Given the description of an element on the screen output the (x, y) to click on. 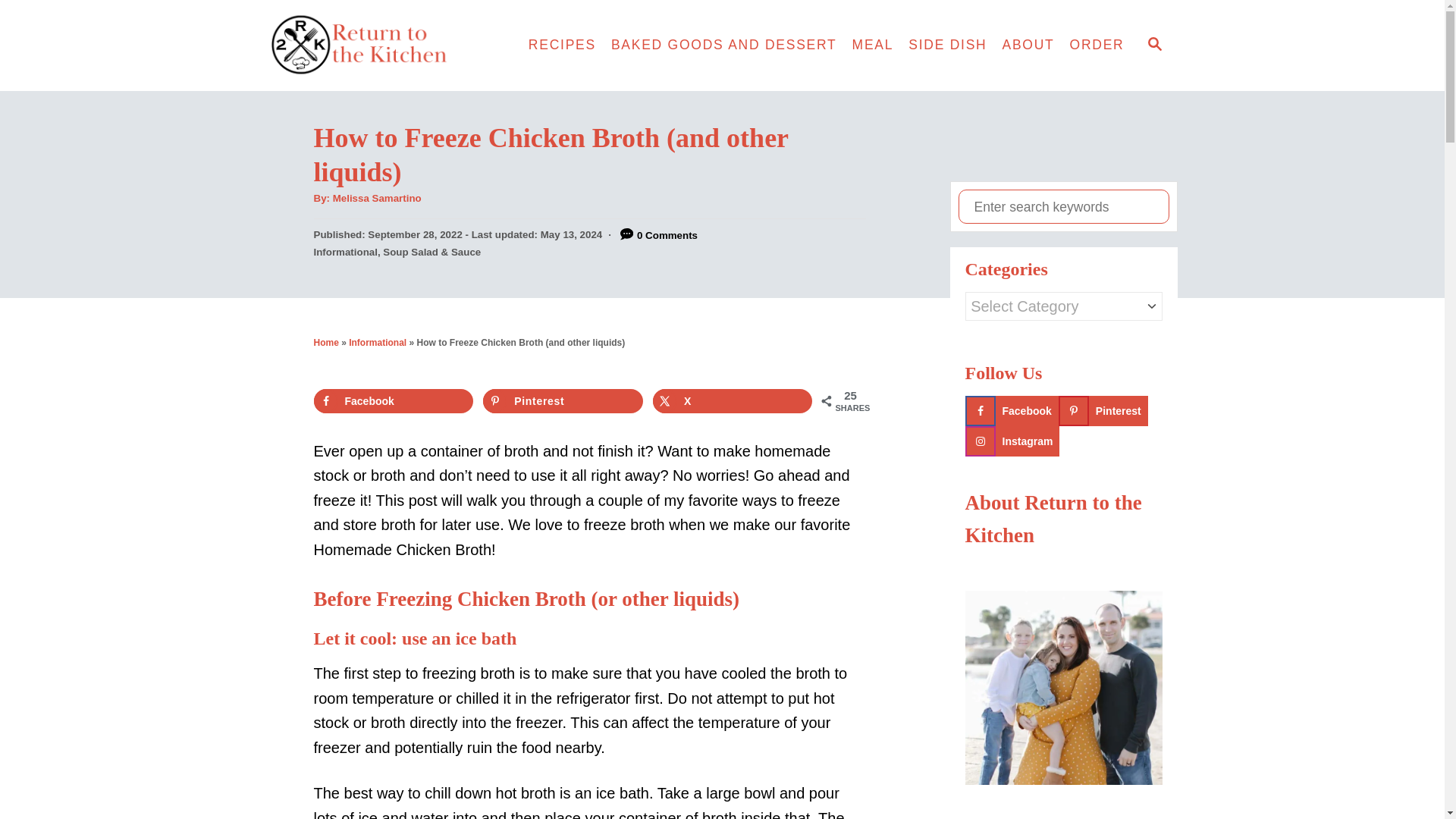
Home (326, 342)
Informational (377, 342)
ABOUT (1028, 45)
Pinterest (563, 401)
Search for: (1063, 206)
Informational (345, 251)
Follow on Instagram (1011, 440)
Melissa Samartino (377, 197)
Share on X (732, 401)
SIDE DISH (947, 45)
X (732, 401)
Return to the Kitchen (386, 45)
SEARCH (1153, 45)
Save to Pinterest (563, 401)
BAKED GOODS AND DESSERT (724, 45)
